Given the description of an element on the screen output the (x, y) to click on. 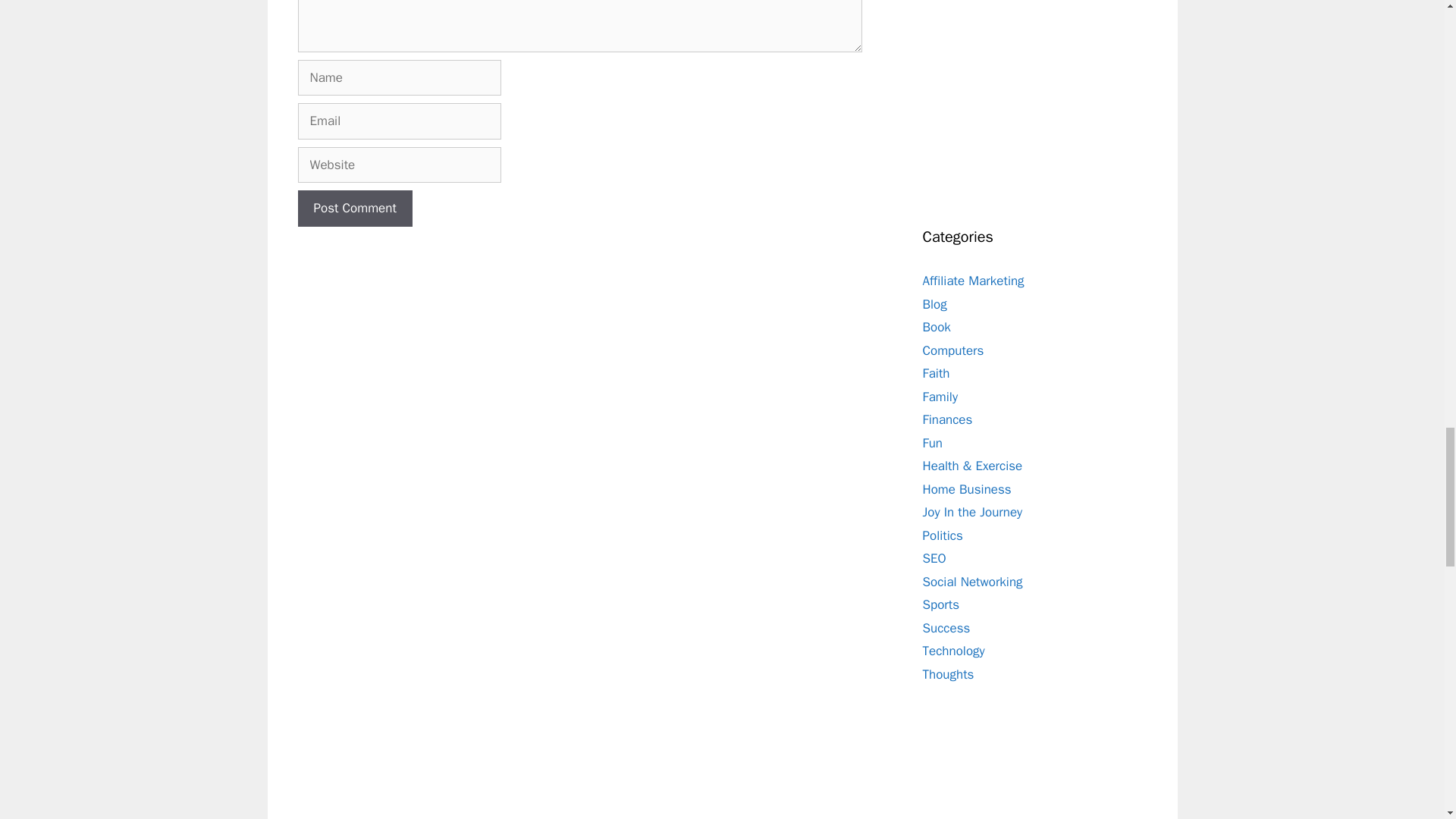
Post Comment (354, 208)
Post Comment (354, 208)
